Given the description of an element on the screen output the (x, y) to click on. 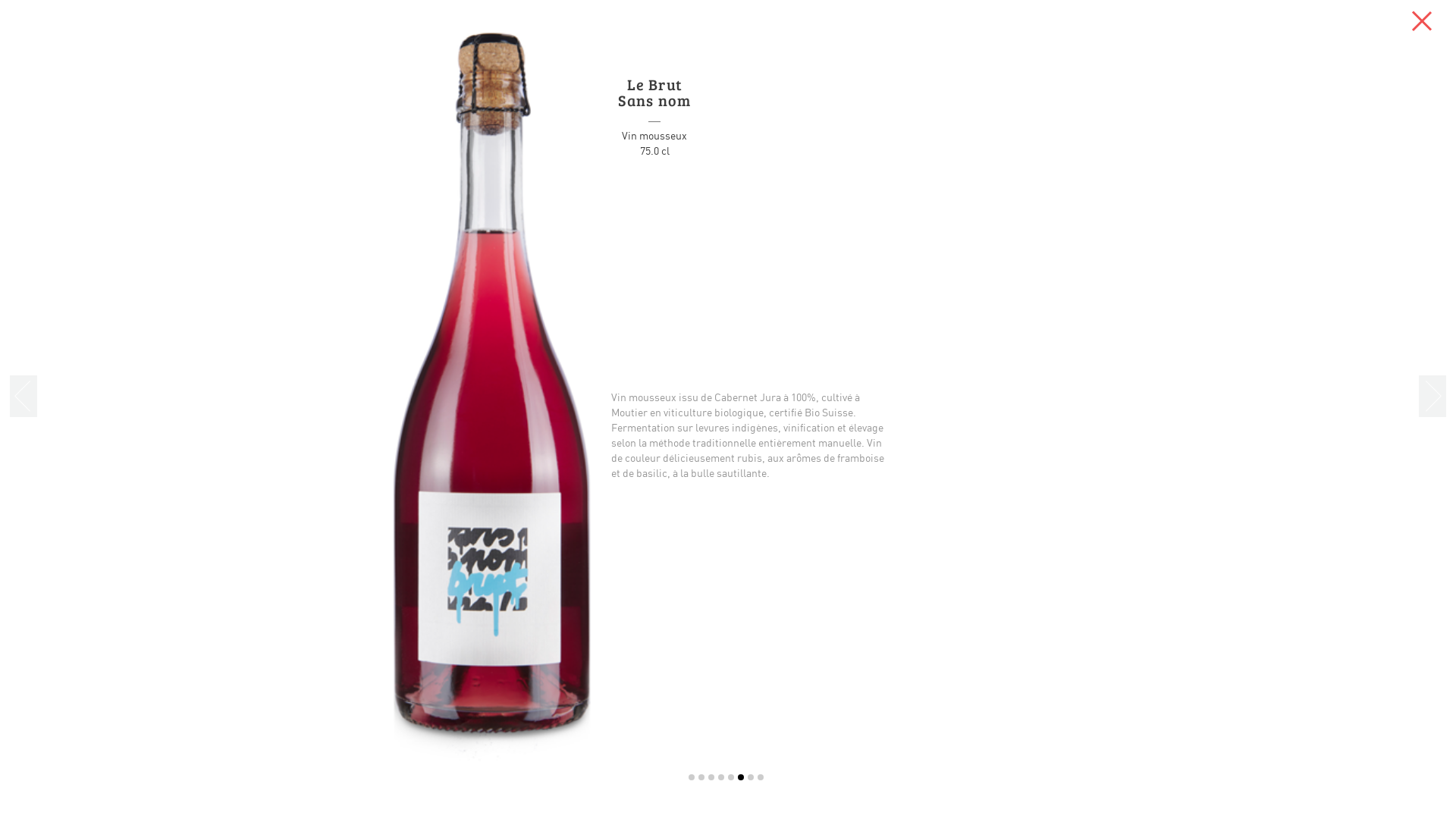
Eau-de-vie de vin Element type: hover (1130, 596)
< Element type: text (23, 396)
Luna nera Element type: hover (337, 596)
La cascata Element type: hover (525, 596)
Lacrime di luna Element type: hover (964, 596)
6 Element type: text (740, 777)
1 Element type: text (691, 777)
Stanza rossa Element type: hover (881, 596)
Fuoco Element type: hover (614, 596)
Eau-de-vie de marc barrique Element type: hover (1045, 596)
Lo spigolo Element type: hover (436, 596)
4 Element type: text (721, 777)
Menu Element type: text (1421, 21)
8 Element type: text (760, 777)
> Element type: text (1432, 396)
Strizzi Element type: hover (703, 596)
5 Element type: text (731, 777)
7 Element type: text (750, 777)
3 Element type: text (711, 777)
Mouton noir Element type: hover (792, 596)
2 Element type: text (701, 777)
